Given the description of an element on the screen output the (x, y) to click on. 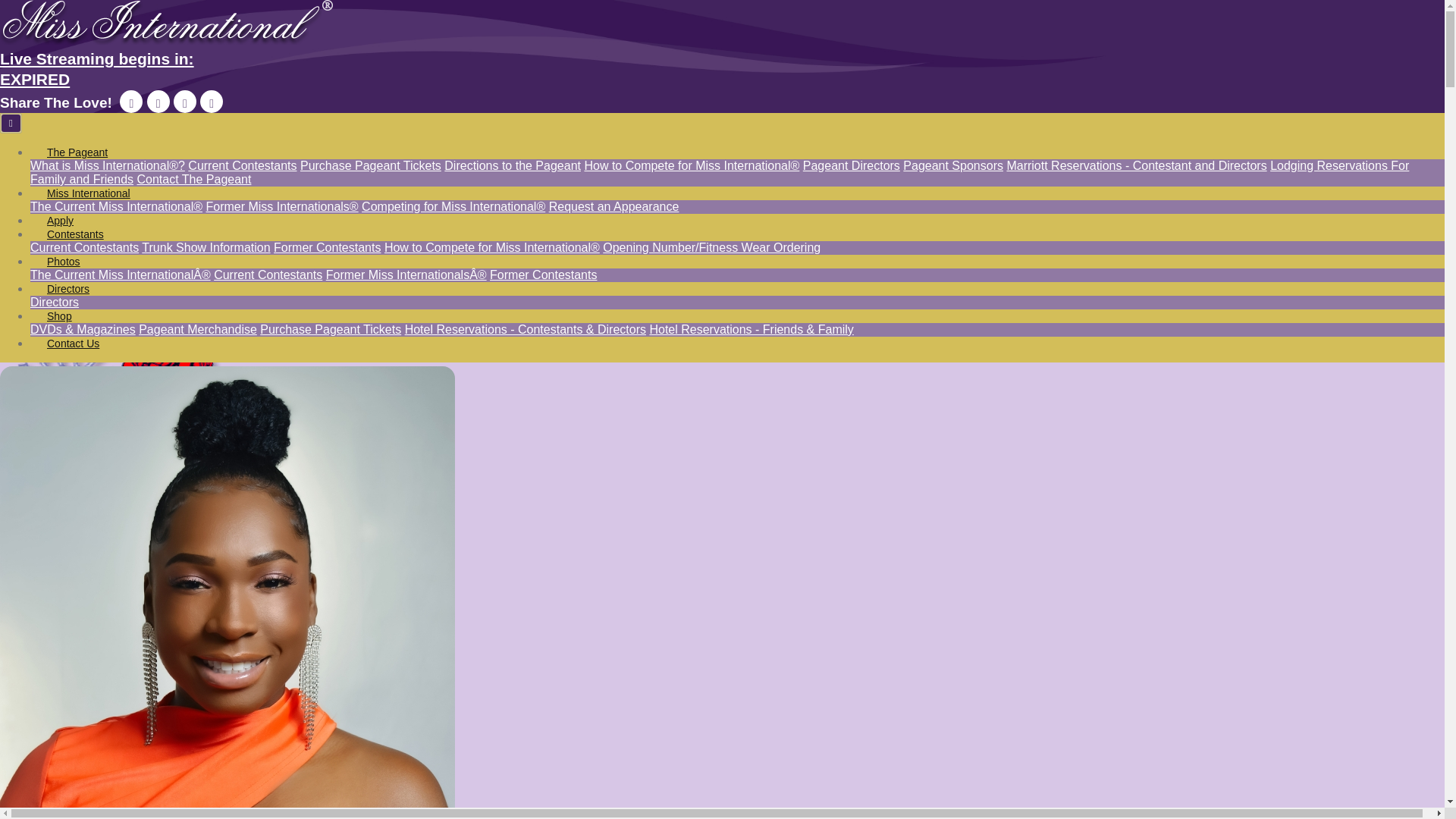
Miss International (88, 192)
Current Contestants (242, 164)
The Pageant (77, 151)
Directors (68, 288)
Contact The Pageant (722, 69)
Marriott Reservations - Contestant and Directors (193, 178)
Request an Appearance (1136, 164)
Photos (613, 205)
Pageant Directors (64, 260)
